Given the description of an element on the screen output the (x, y) to click on. 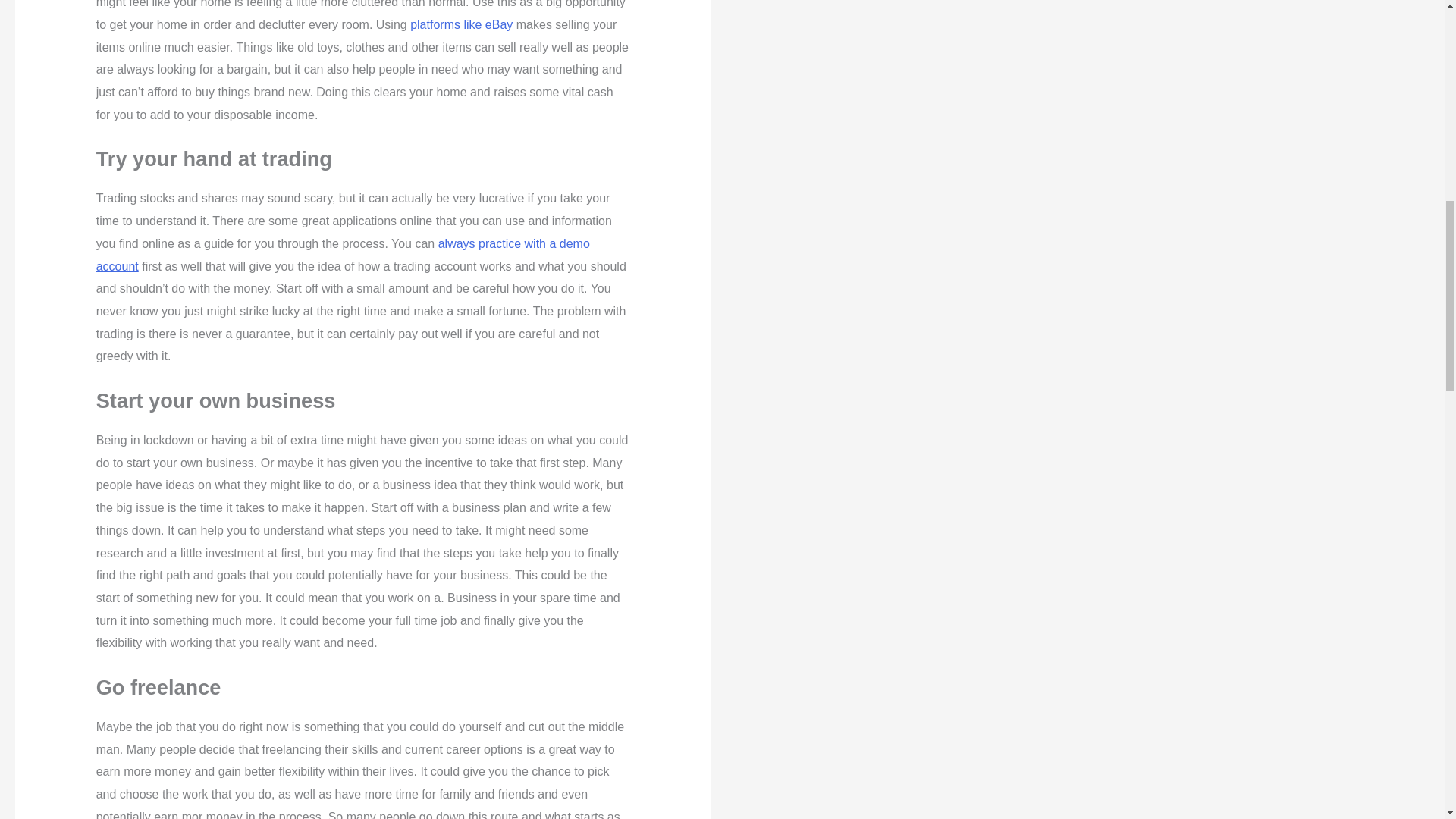
always practice with a demo account (342, 254)
platforms like eBay (461, 24)
